Given the description of an element on the screen output the (x, y) to click on. 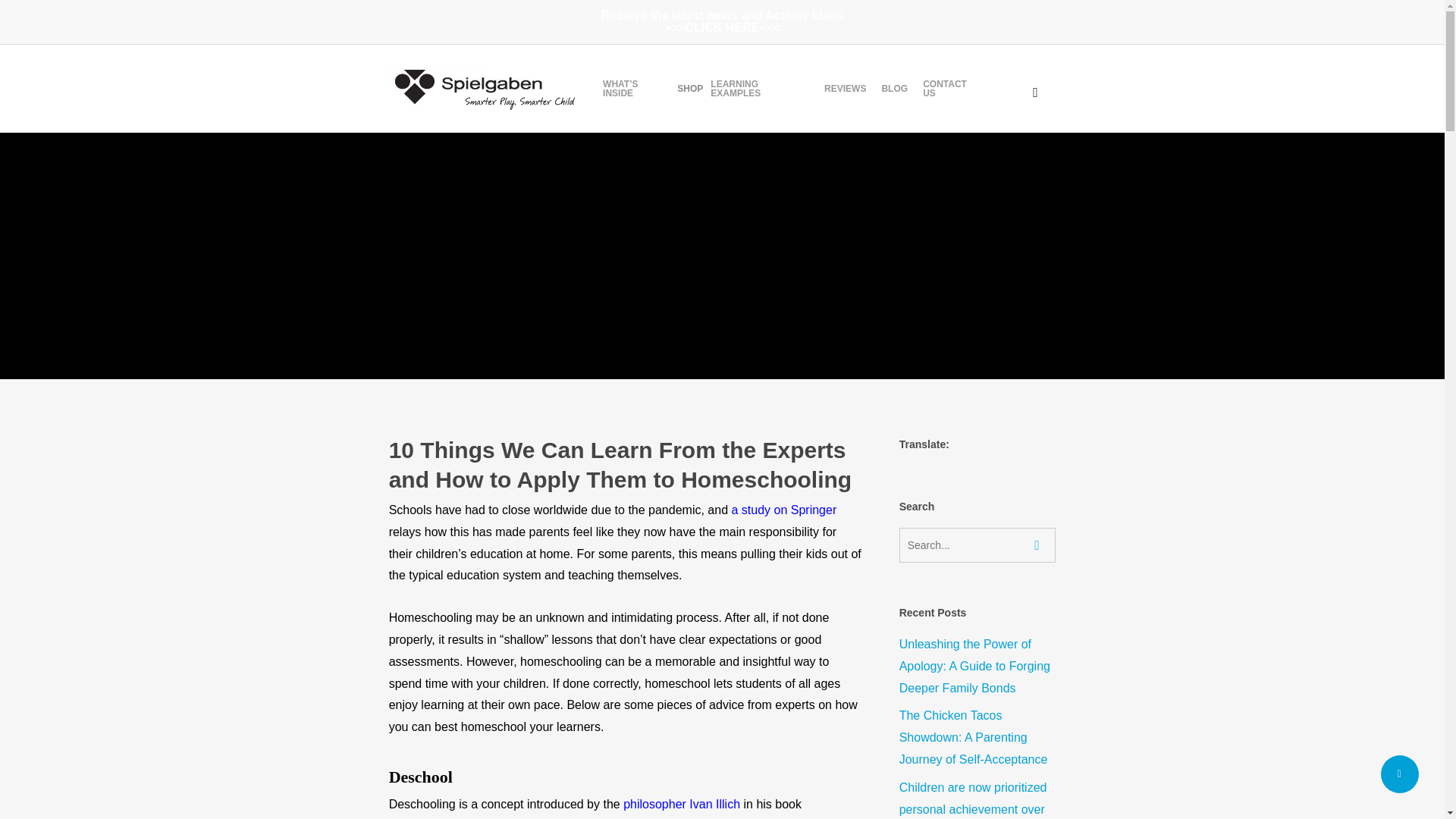
BLOG (894, 88)
LEARNING EXAMPLES (759, 88)
CONTACT US (951, 88)
a study on Springer (782, 509)
SHOP (690, 88)
philosopher Ivan Illich (681, 803)
REVIEWS (844, 88)
Search for: (978, 544)
